Given the description of an element on the screen output the (x, y) to click on. 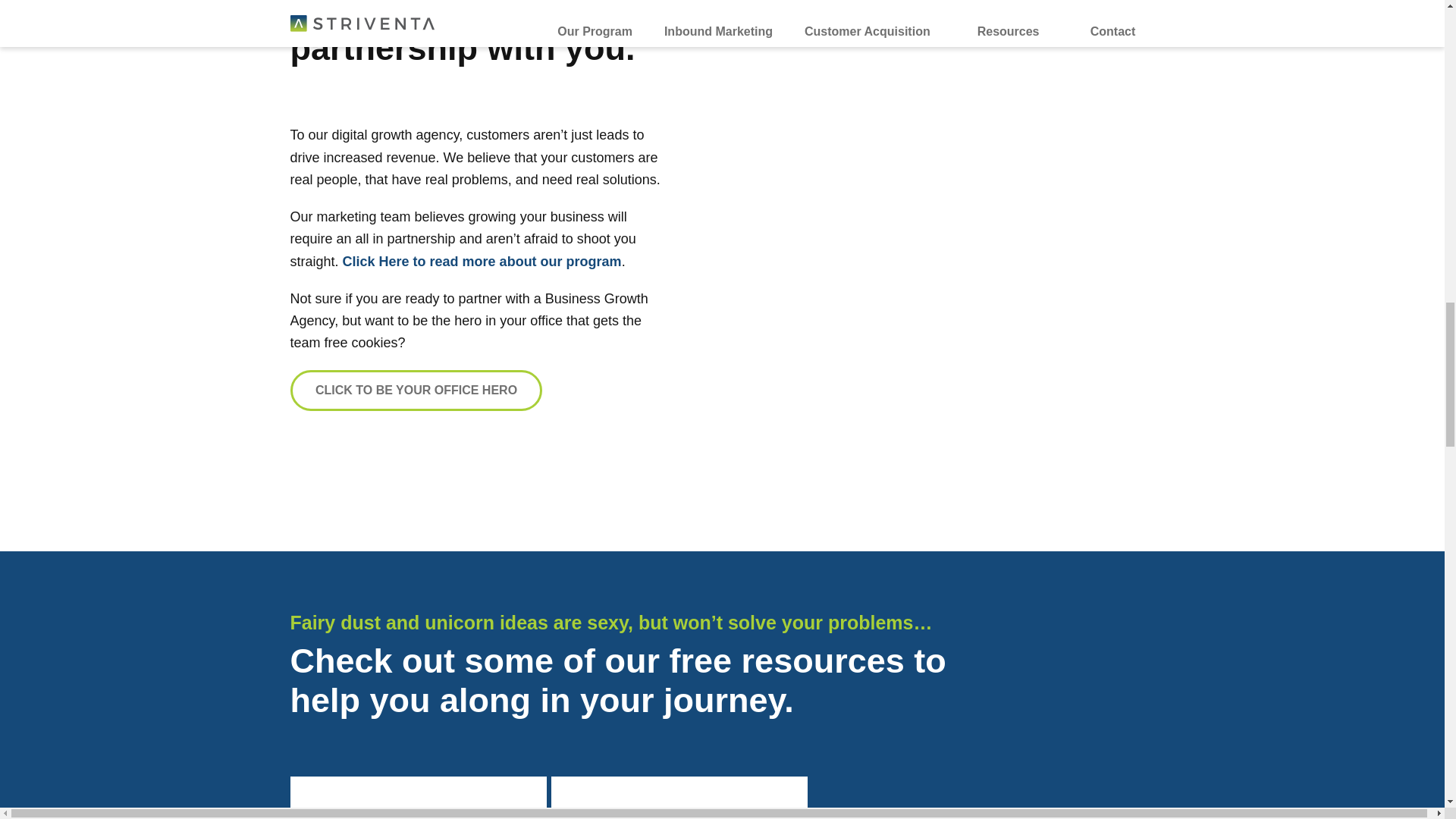
CLICK TO BE YOUR OFFICE HERO (415, 390)
Click Here to read more about our program (481, 261)
